Given the description of an element on the screen output the (x, y) to click on. 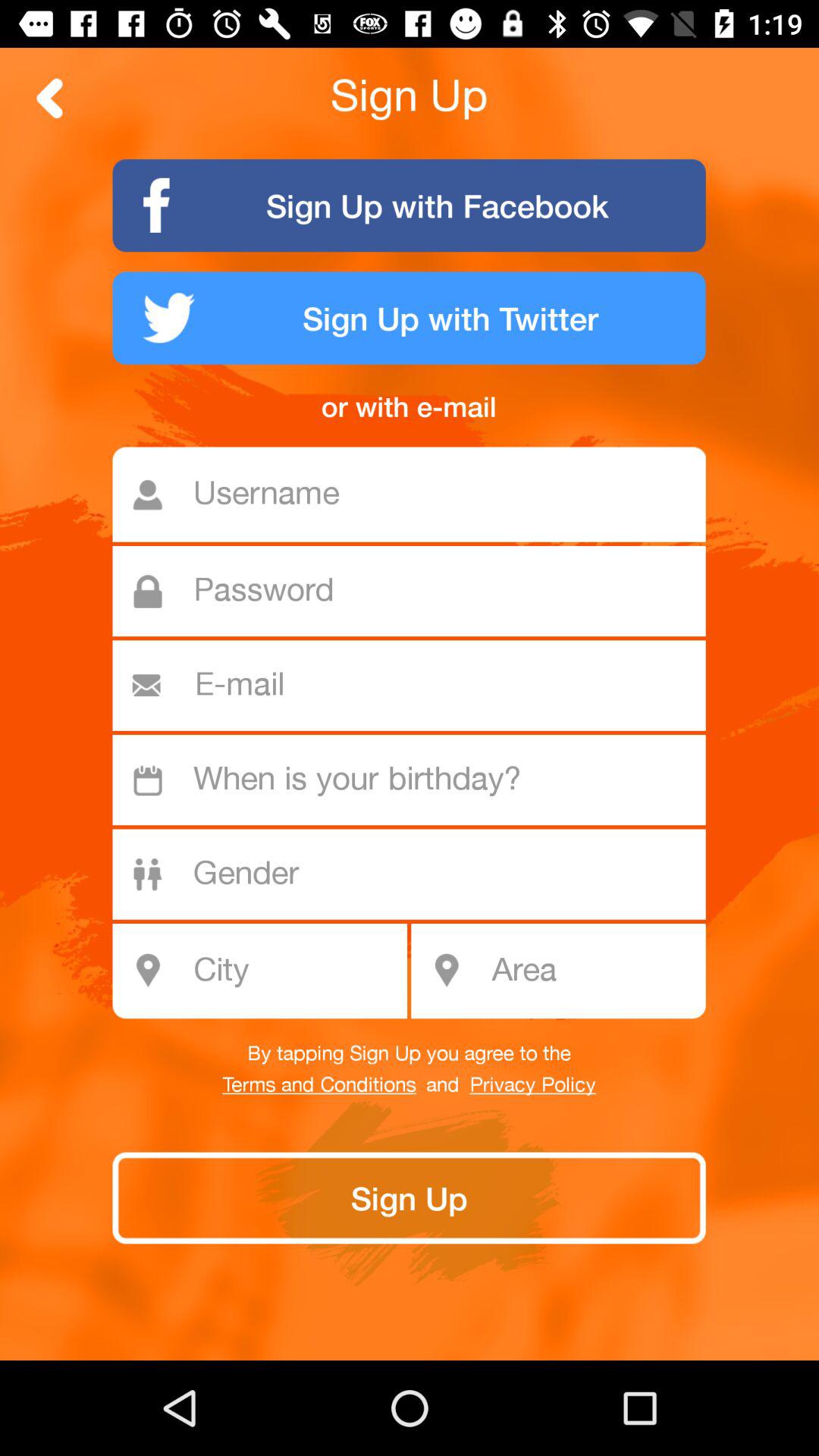
go back (50, 98)
